Given the description of an element on the screen output the (x, y) to click on. 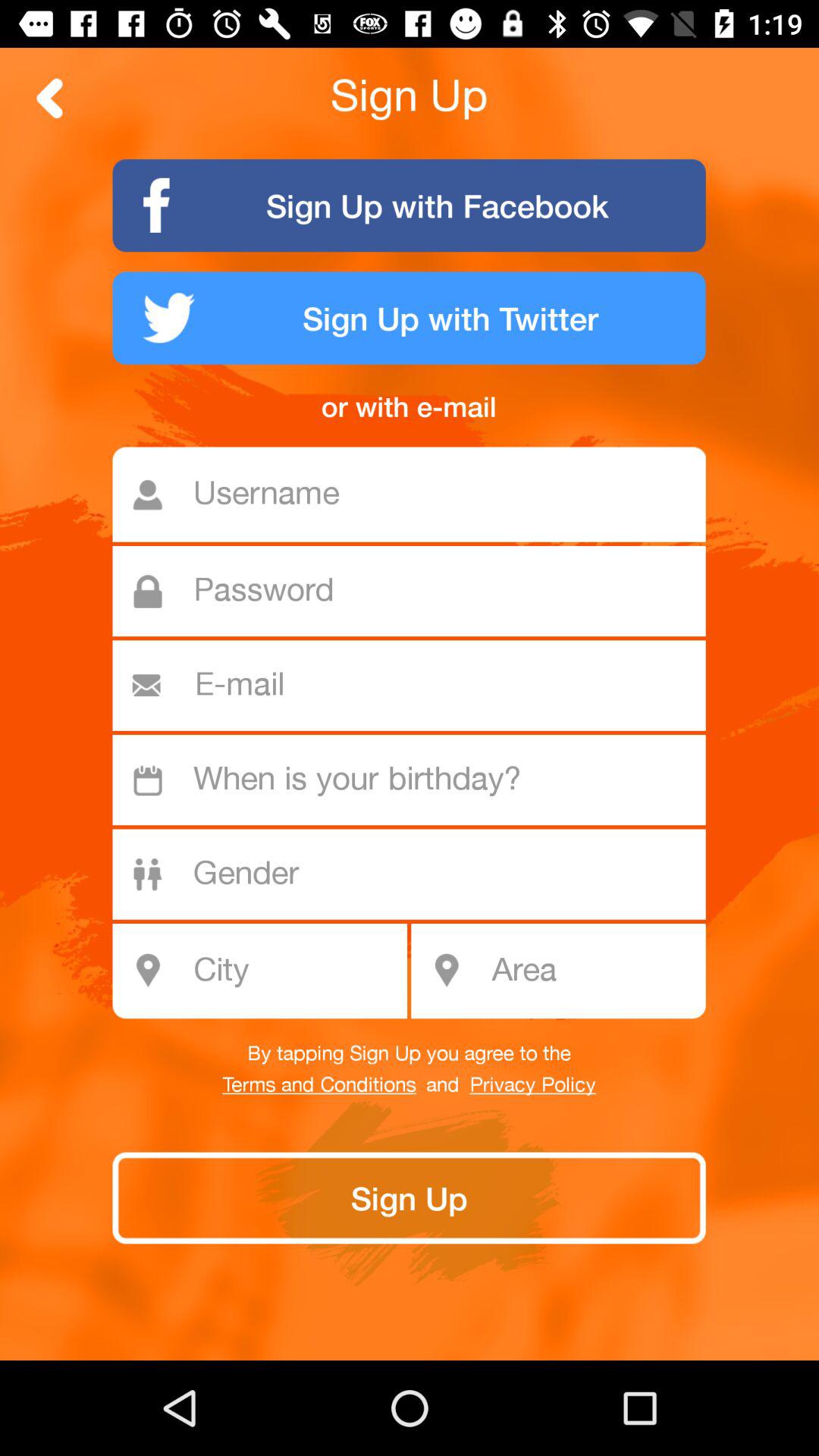
go back (50, 98)
